Given the description of an element on the screen output the (x, y) to click on. 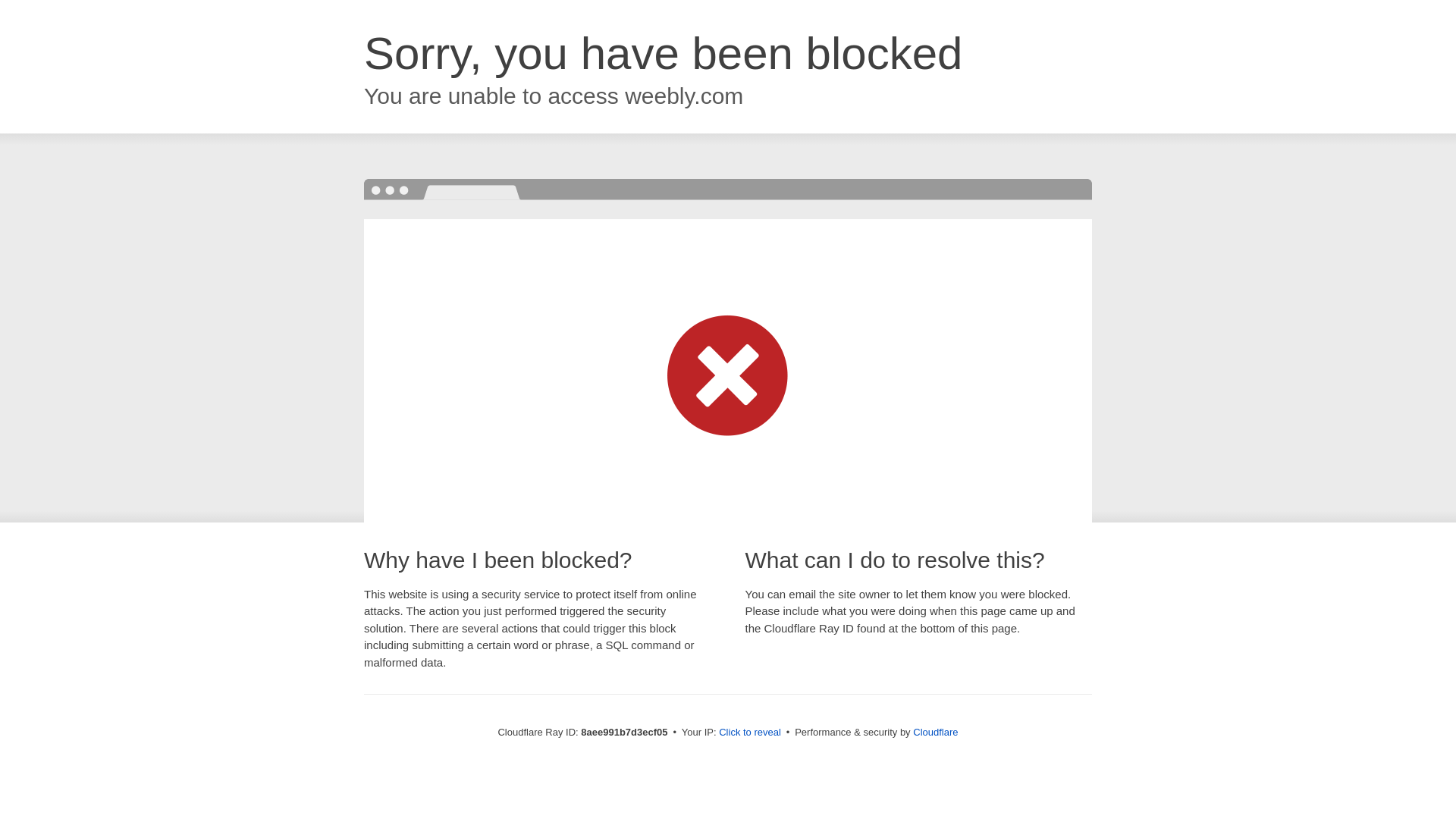
Cloudflare (935, 731)
Click to reveal (749, 732)
